Given the description of an element on the screen output the (x, y) to click on. 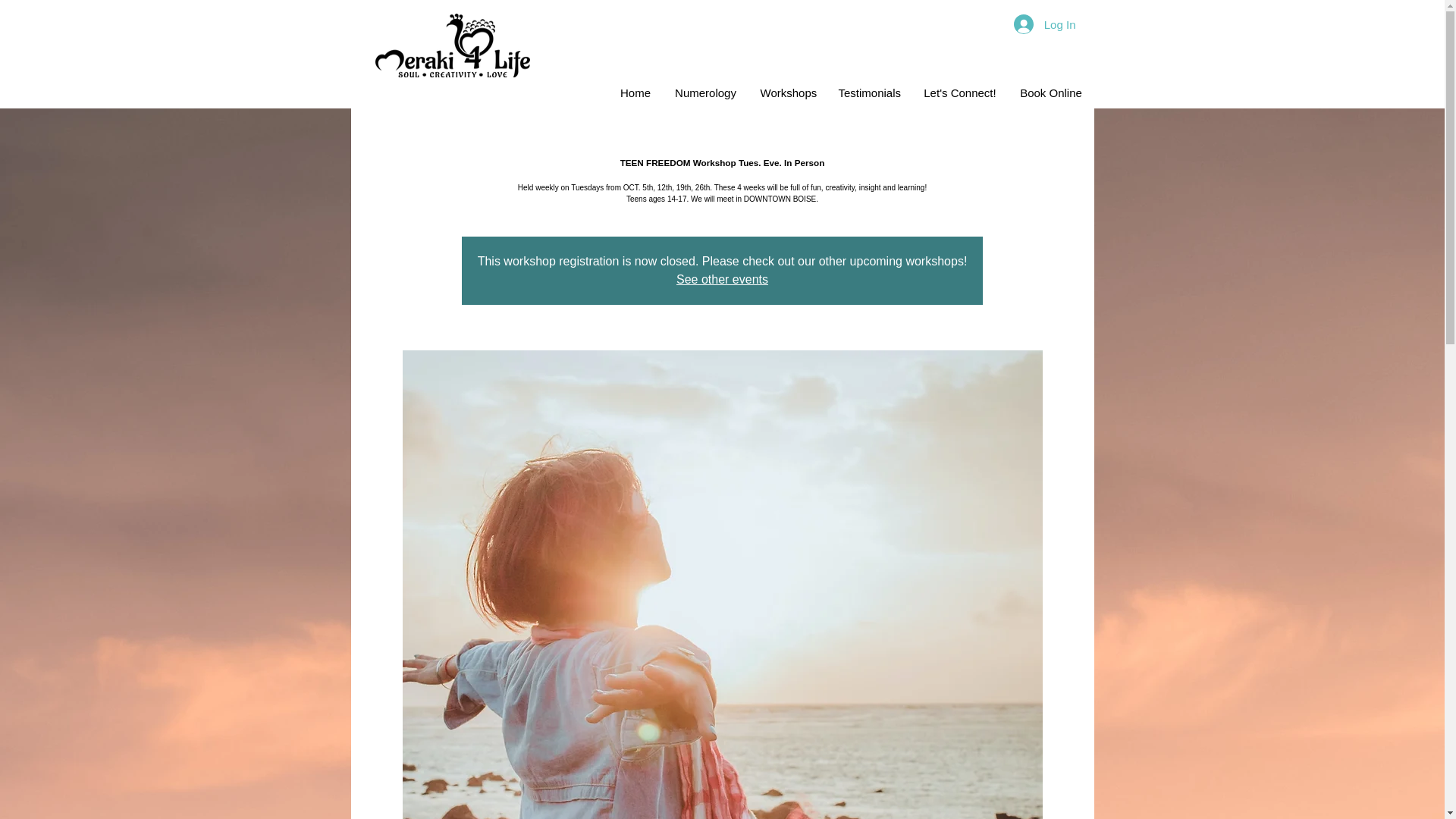
Numerology (705, 93)
Log In (1044, 23)
See other events (722, 278)
Workshops (788, 93)
Home (635, 93)
Book Online (1051, 93)
Let's Connect! (959, 93)
Testimonials (869, 93)
